Given the description of an element on the screen output the (x, y) to click on. 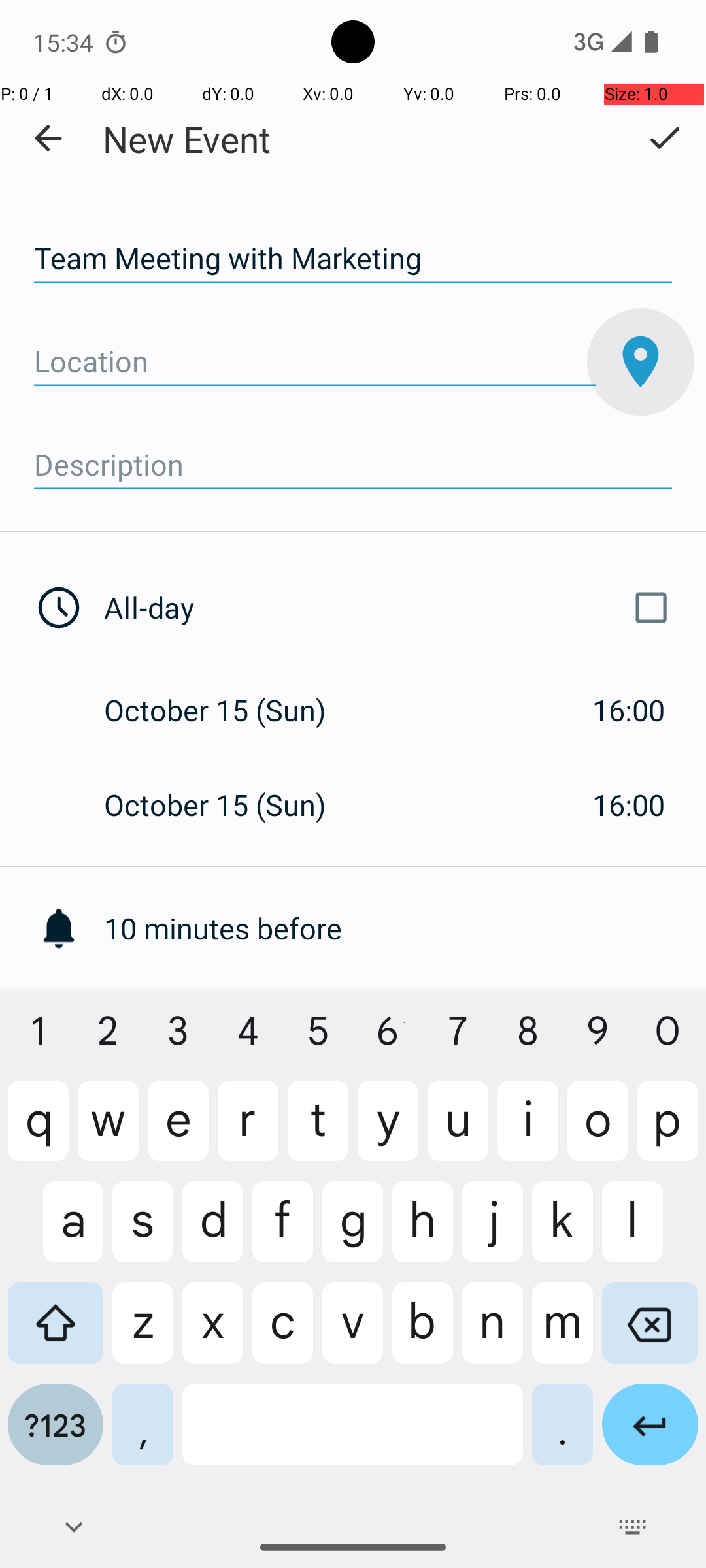
Team Meeting with Marketing Element type: android.widget.EditText (352, 258)
